Given the description of an element on the screen output the (x, y) to click on. 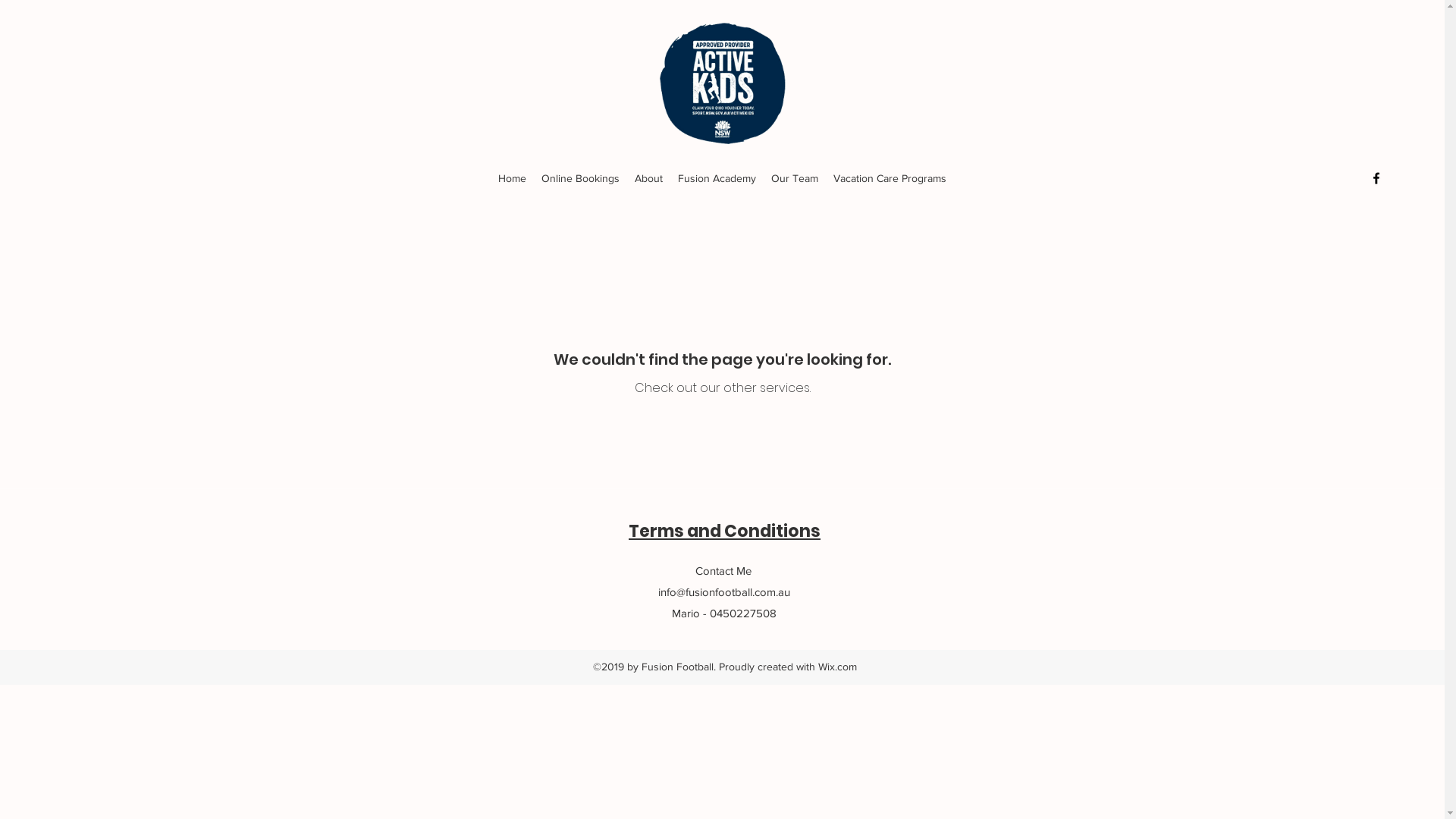
Our Team Element type: text (794, 177)
About Element type: text (648, 177)
Terms and Conditions Element type: text (724, 530)
Fusion Academy Element type: text (716, 177)
Online Bookings Element type: text (580, 177)
Vacation Care Programs Element type: text (889, 177)
Home Element type: text (511, 177)
info@fusionfootball.com.au Element type: text (724, 591)
